Given the description of an element on the screen output the (x, y) to click on. 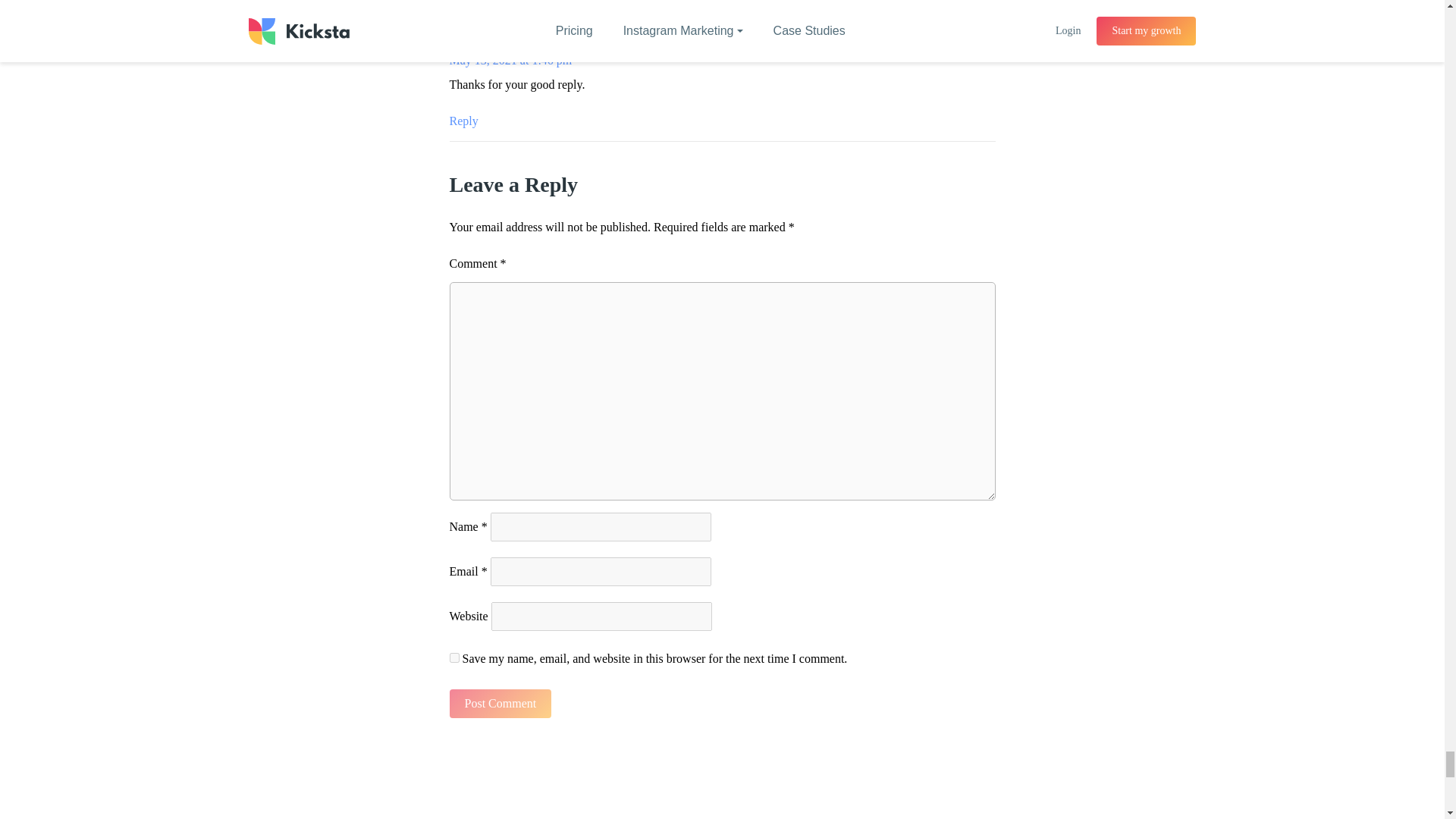
yes (453, 657)
Post Comment (499, 703)
